Given the description of an element on the screen output the (x, y) to click on. 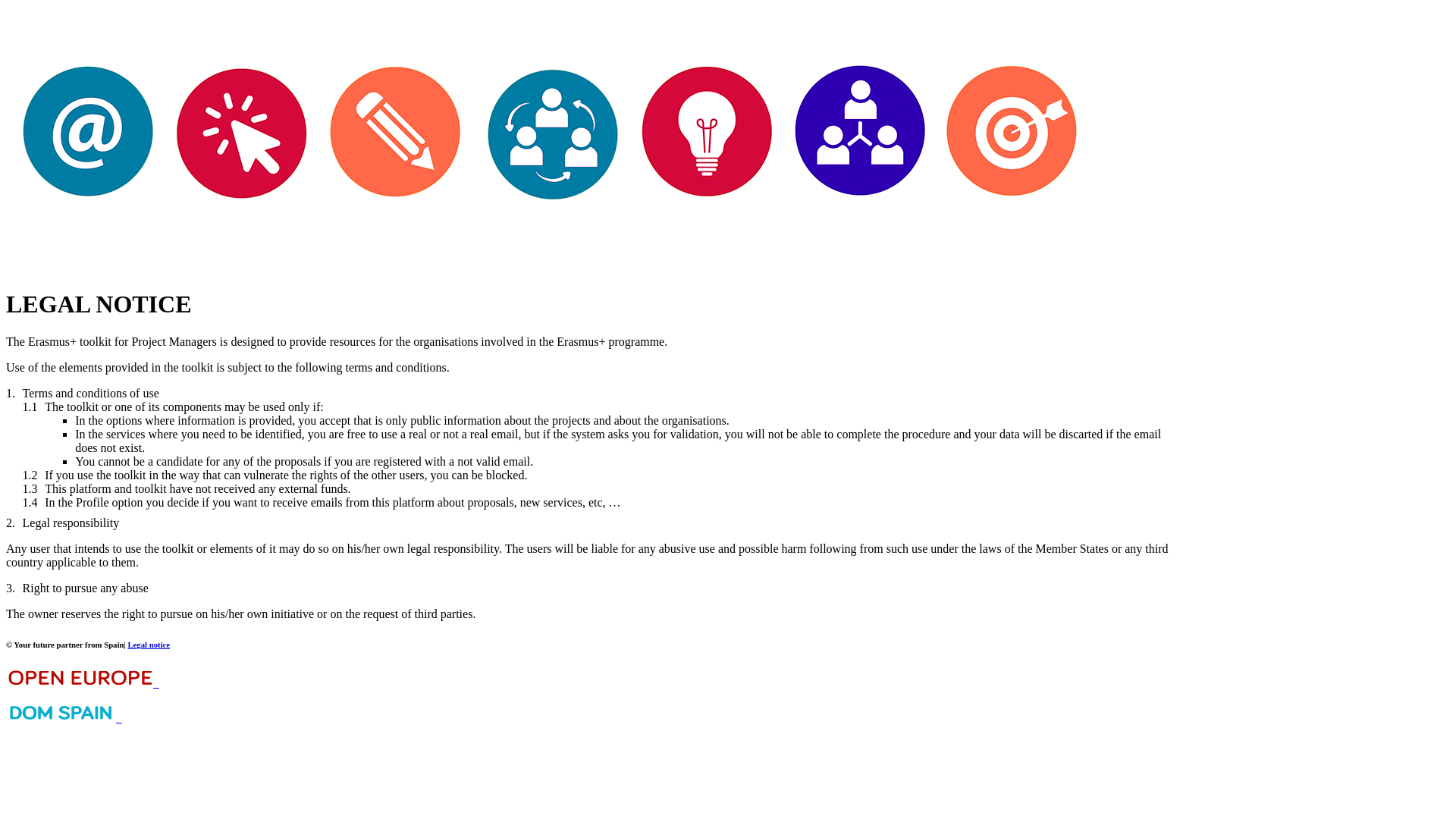
Legal notice (149, 644)
main page (547, 267)
